Given the description of an element on the screen output the (x, y) to click on. 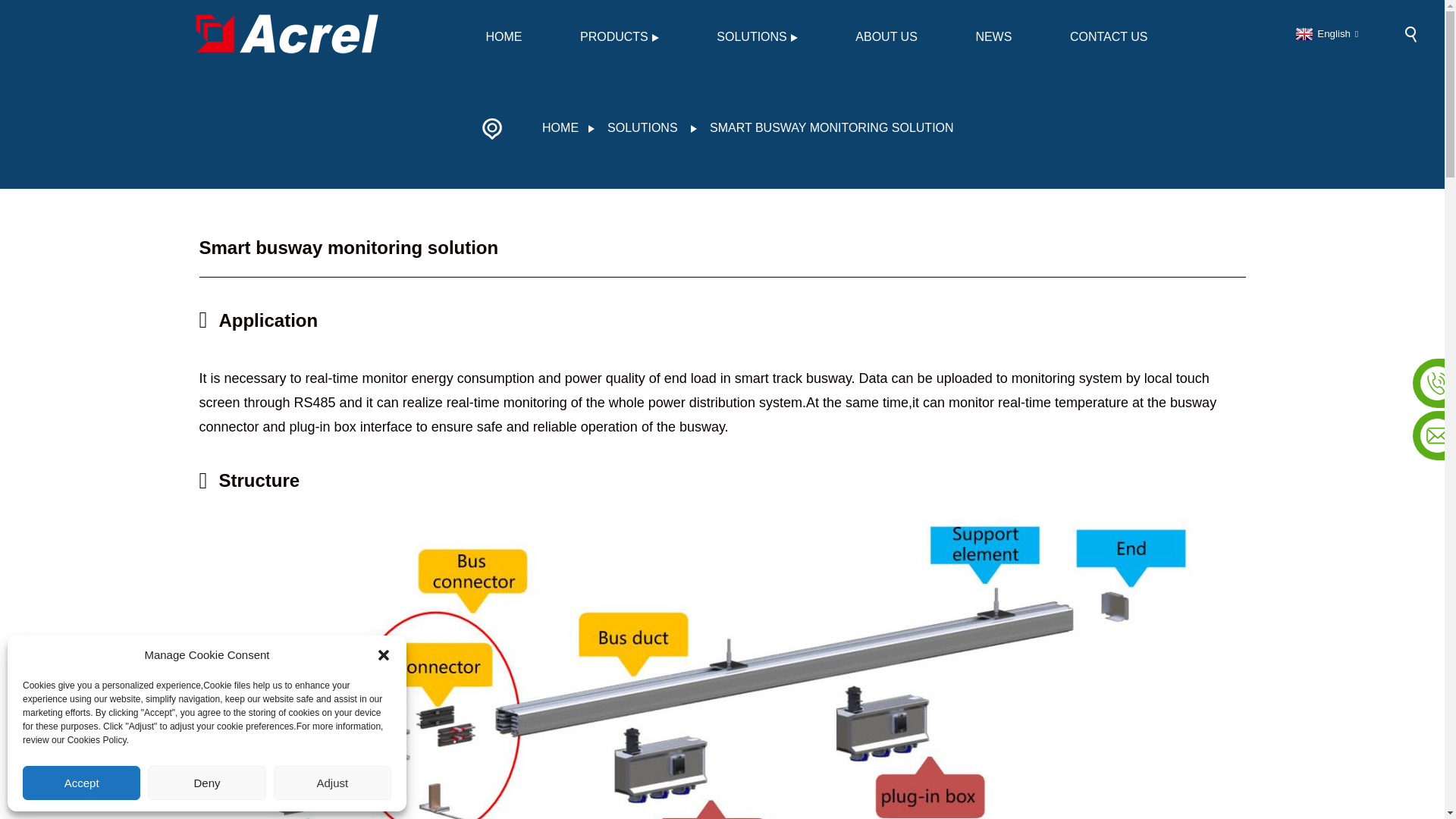
PRODUCTS (619, 36)
HOME (503, 36)
